Given the description of an element on the screen output the (x, y) to click on. 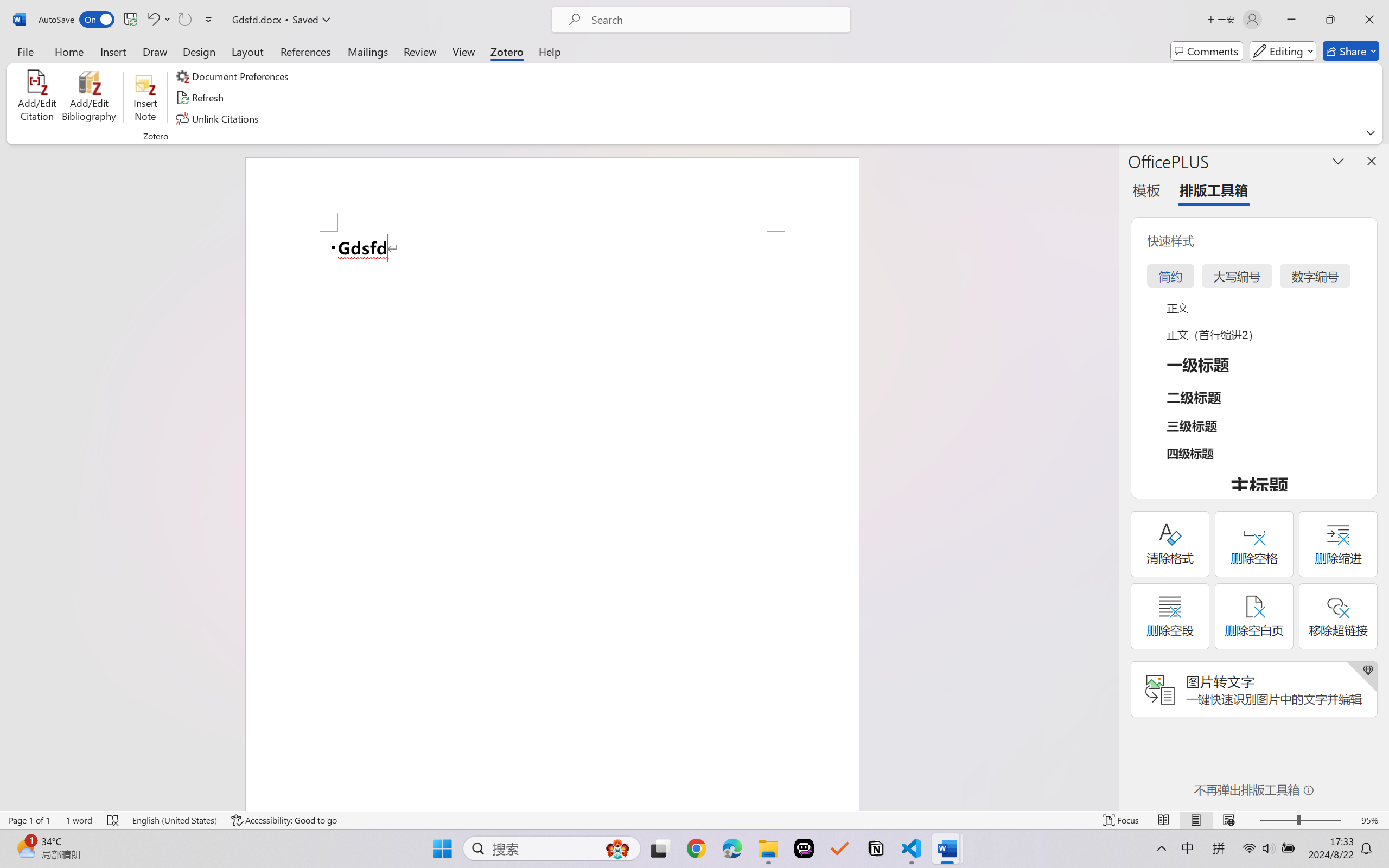
Zoom 95% (1372, 819)
Document Preferences (233, 75)
